Given the description of an element on the screen output the (x, y) to click on. 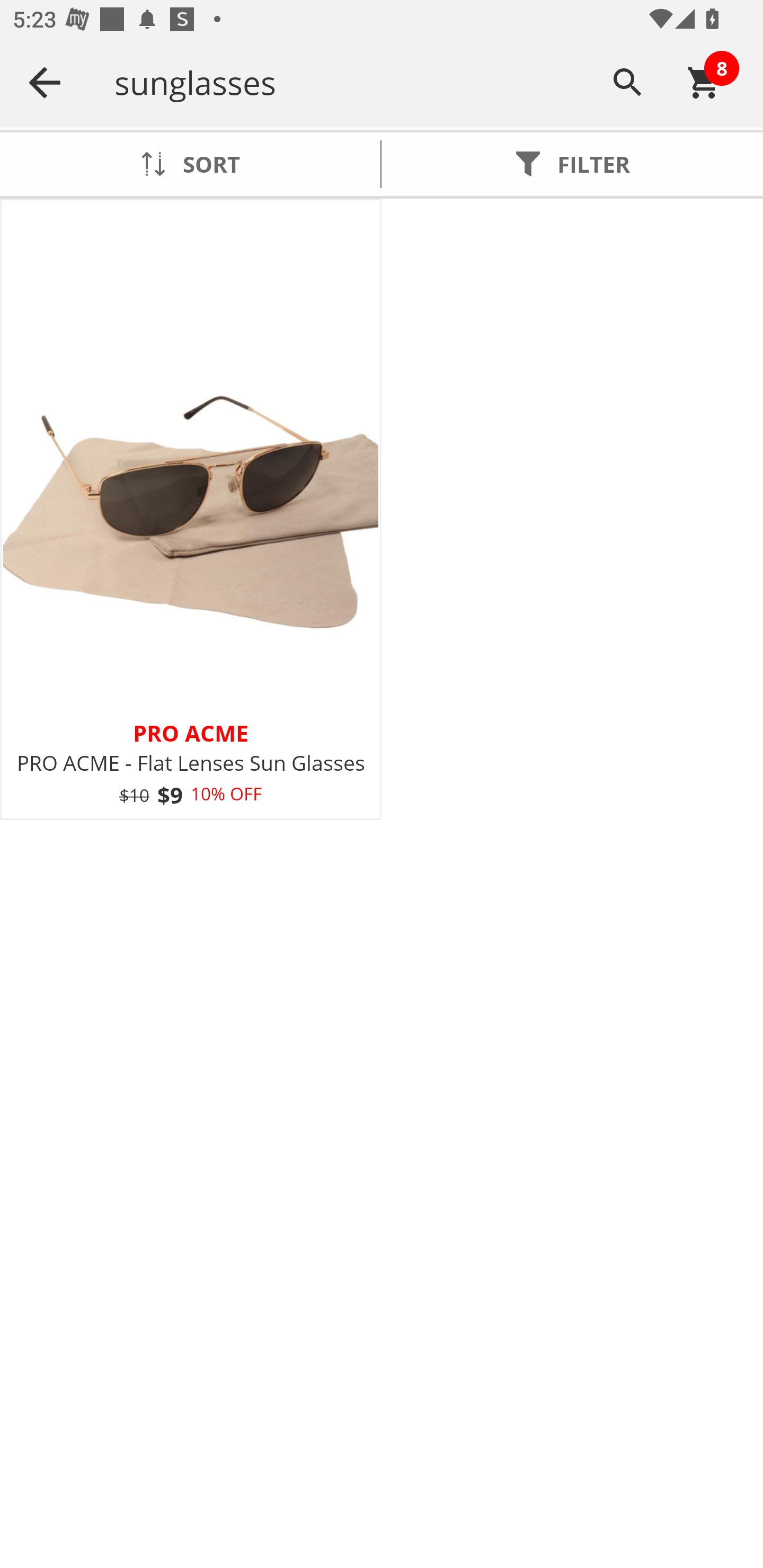
Navigate up (44, 82)
SORT (190, 163)
FILTER (572, 163)
